Given the description of an element on the screen output the (x, y) to click on. 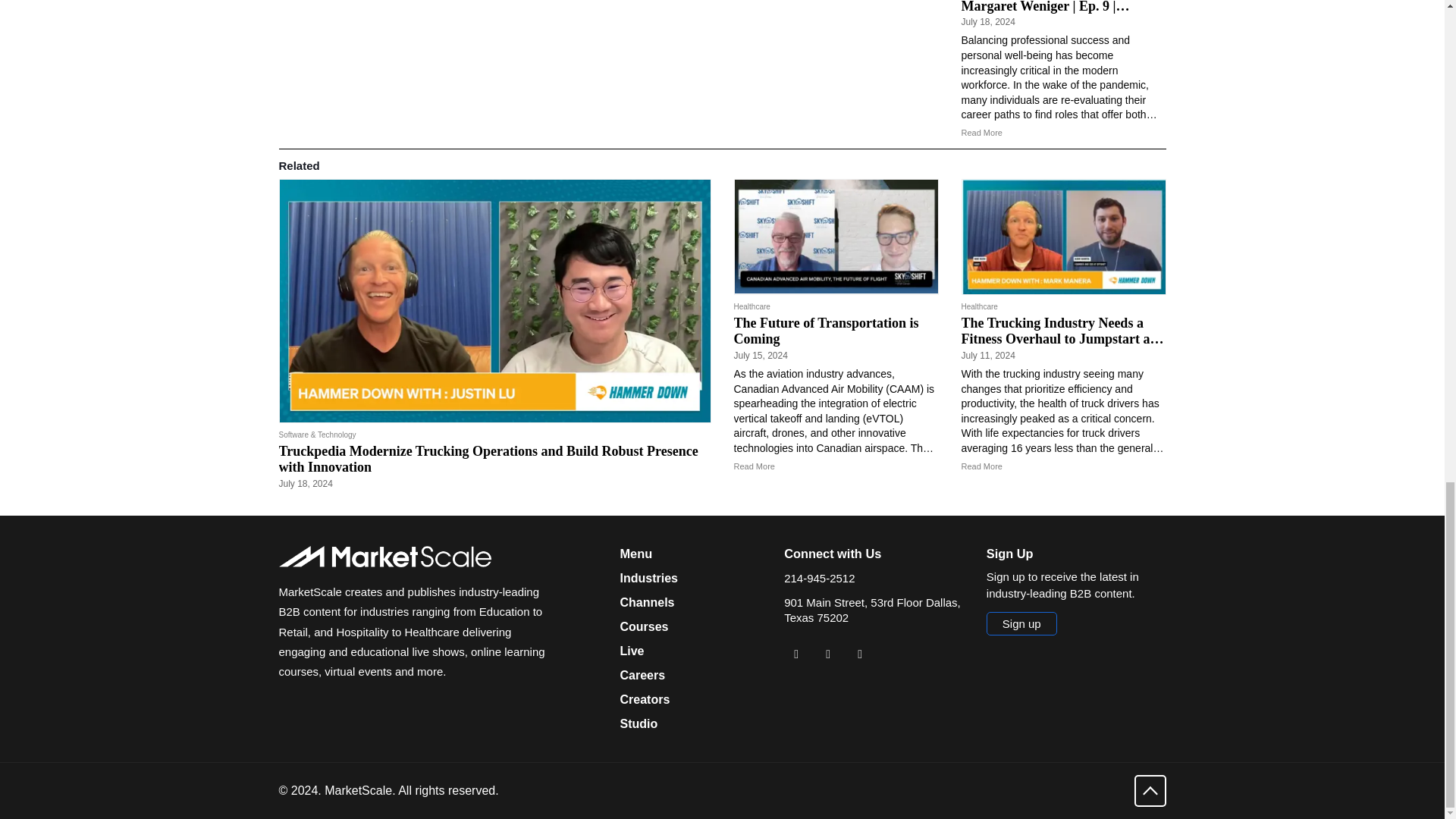
Share on Linkedin (796, 654)
Share on Instagram (859, 654)
Share on X (827, 654)
